Given the description of an element on the screen output the (x, y) to click on. 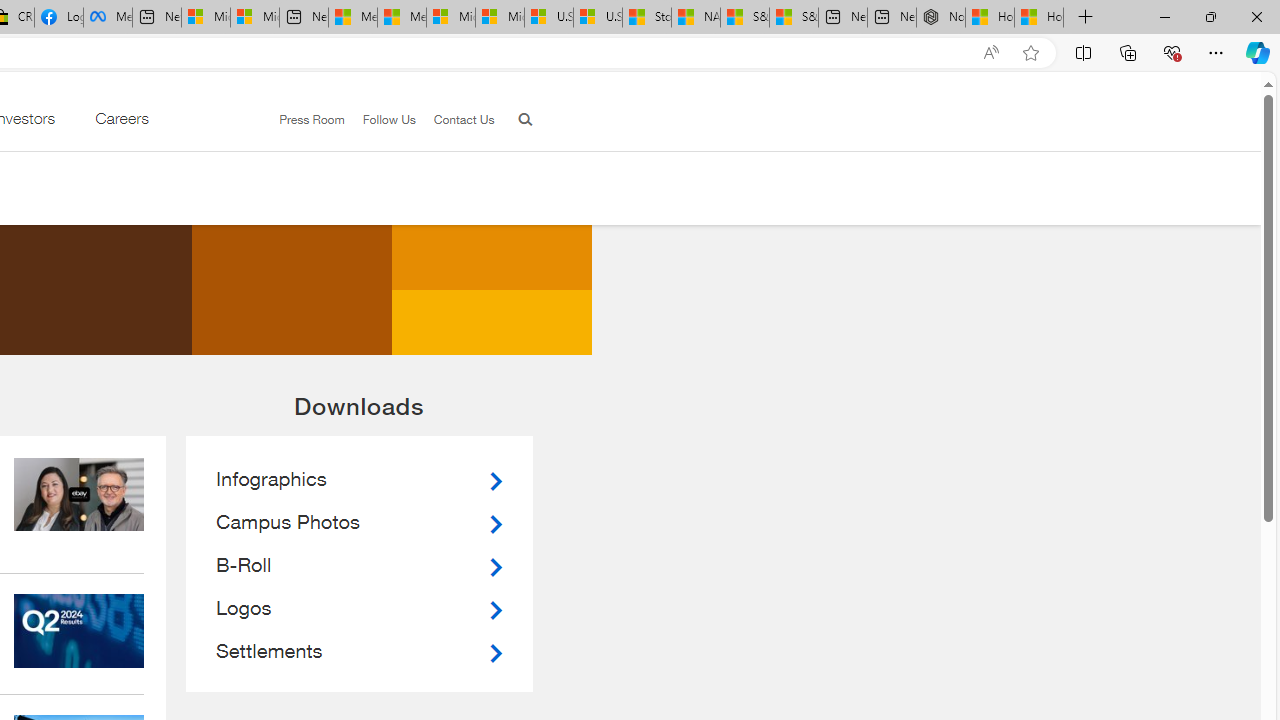
Copilot (Ctrl+Shift+.) (1258, 52)
240725 BoardMembers announcement v1 inc 1600x900 image B1 (79, 494)
Log into Facebook (58, 17)
Contact Us (463, 119)
Press Room (312, 119)
How to Use a Monitor With Your Closed Laptop (1039, 17)
Q2 2024 Results (79, 631)
S&P 500, Nasdaq end lower, weighed by Nvidia dip | Watch (793, 17)
New Tab (1085, 17)
Follow Us (380, 120)
Careers (121, 123)
